Given the description of an element on the screen output the (x, y) to click on. 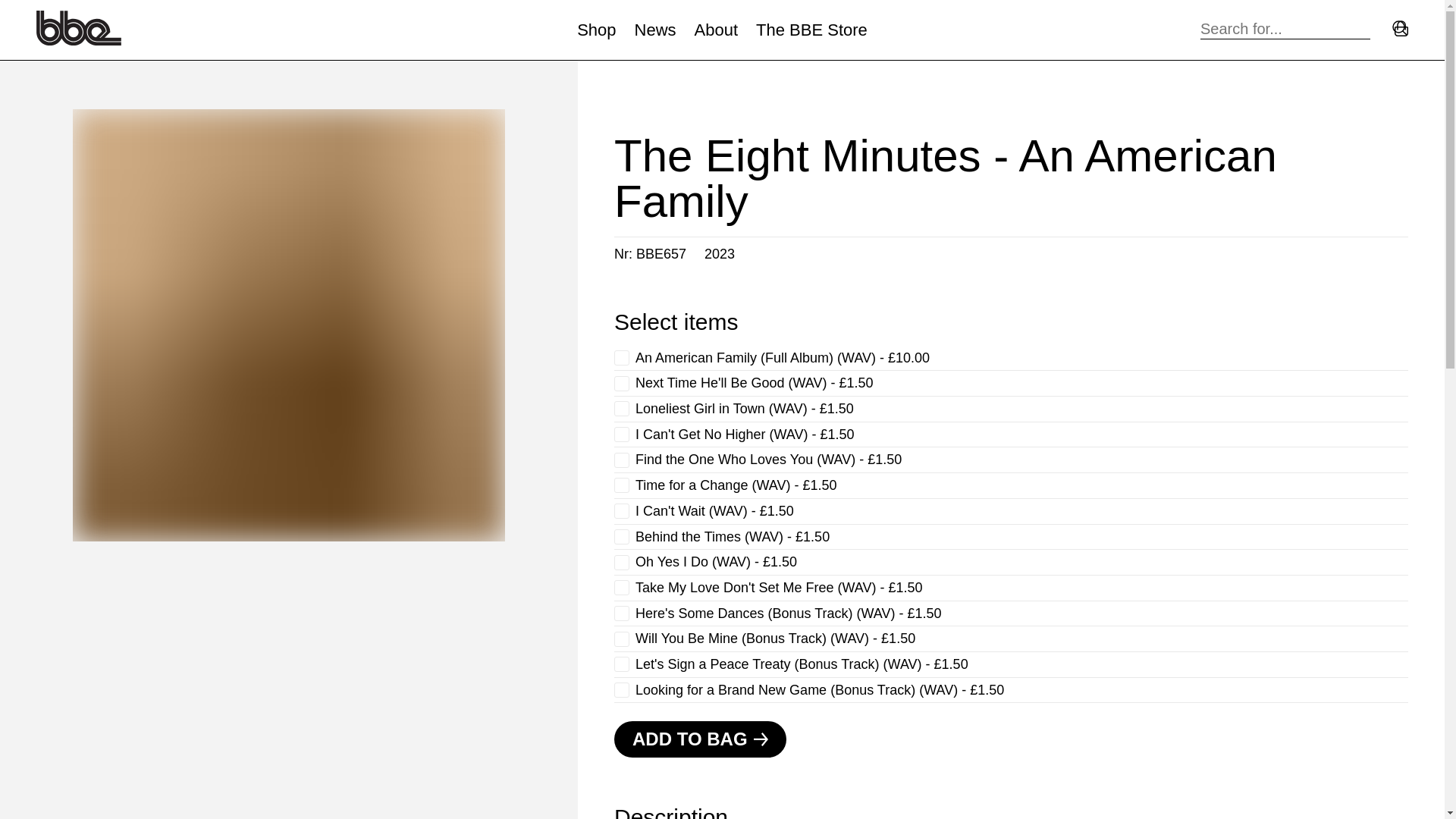
About (716, 29)
Shop (595, 29)
ADD TO BAG (700, 739)
The BBE Store (811, 29)
